Given the description of an element on the screen output the (x, y) to click on. 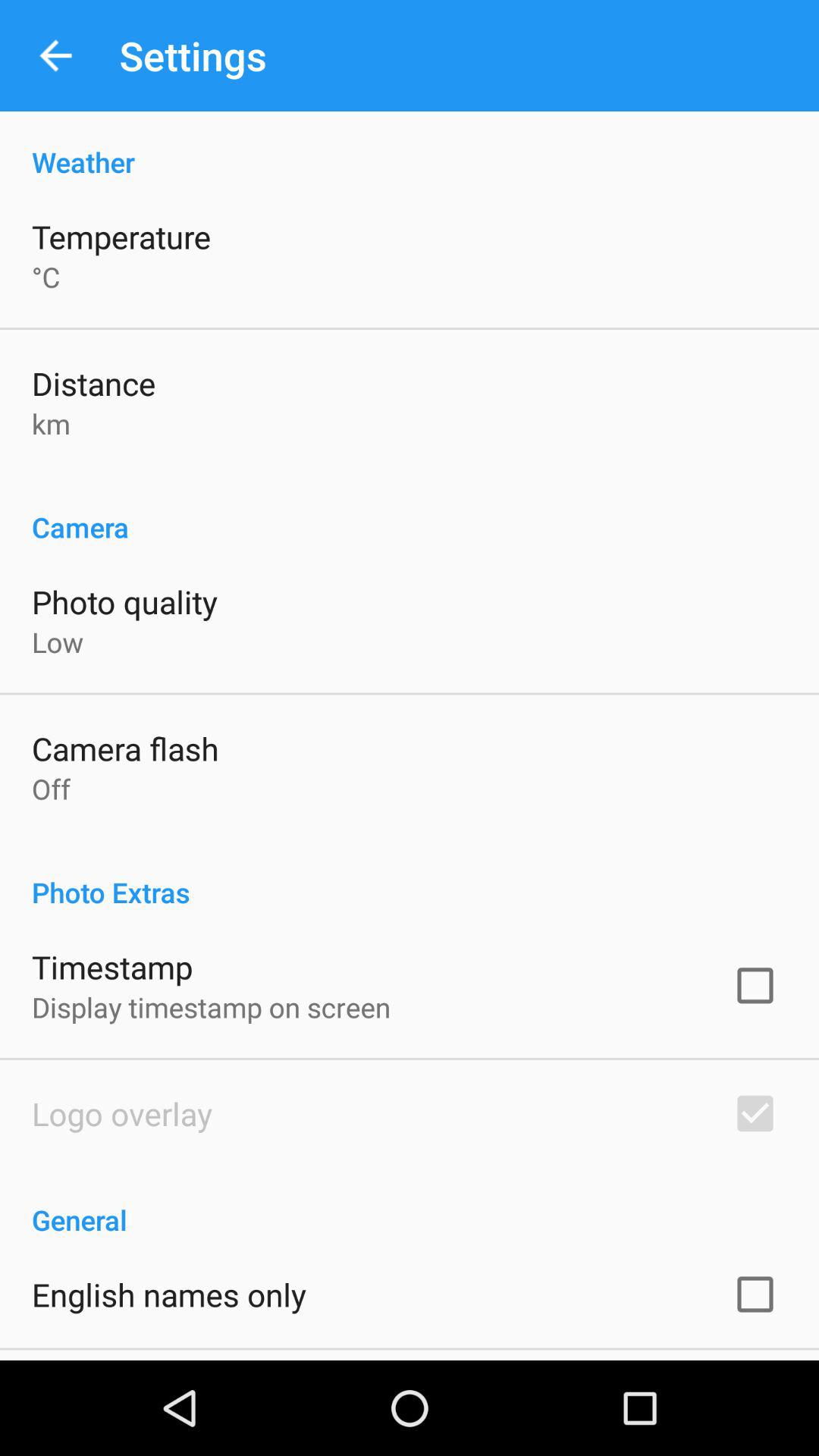
flip to the km app (50, 423)
